Given the description of an element on the screen output the (x, y) to click on. 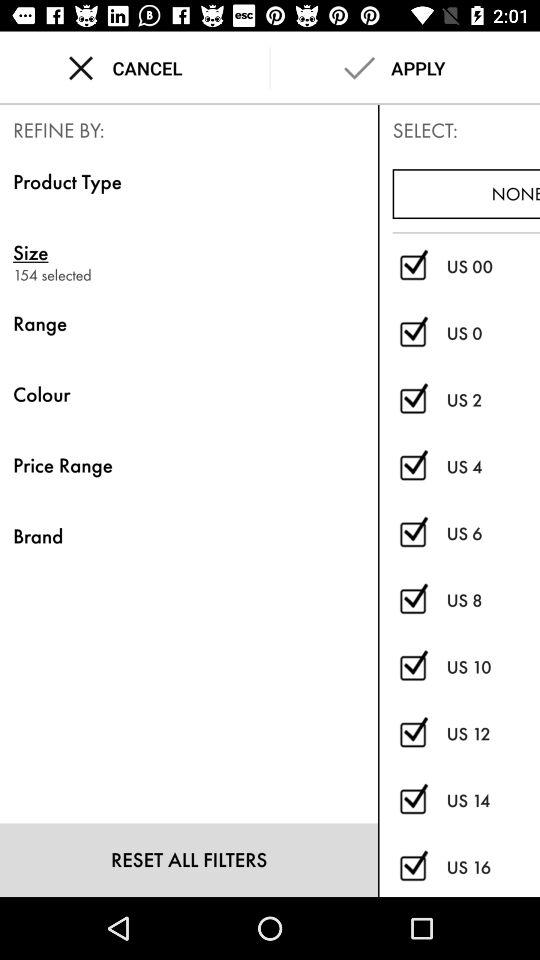
select size (412, 533)
